Given the description of an element on the screen output the (x, y) to click on. 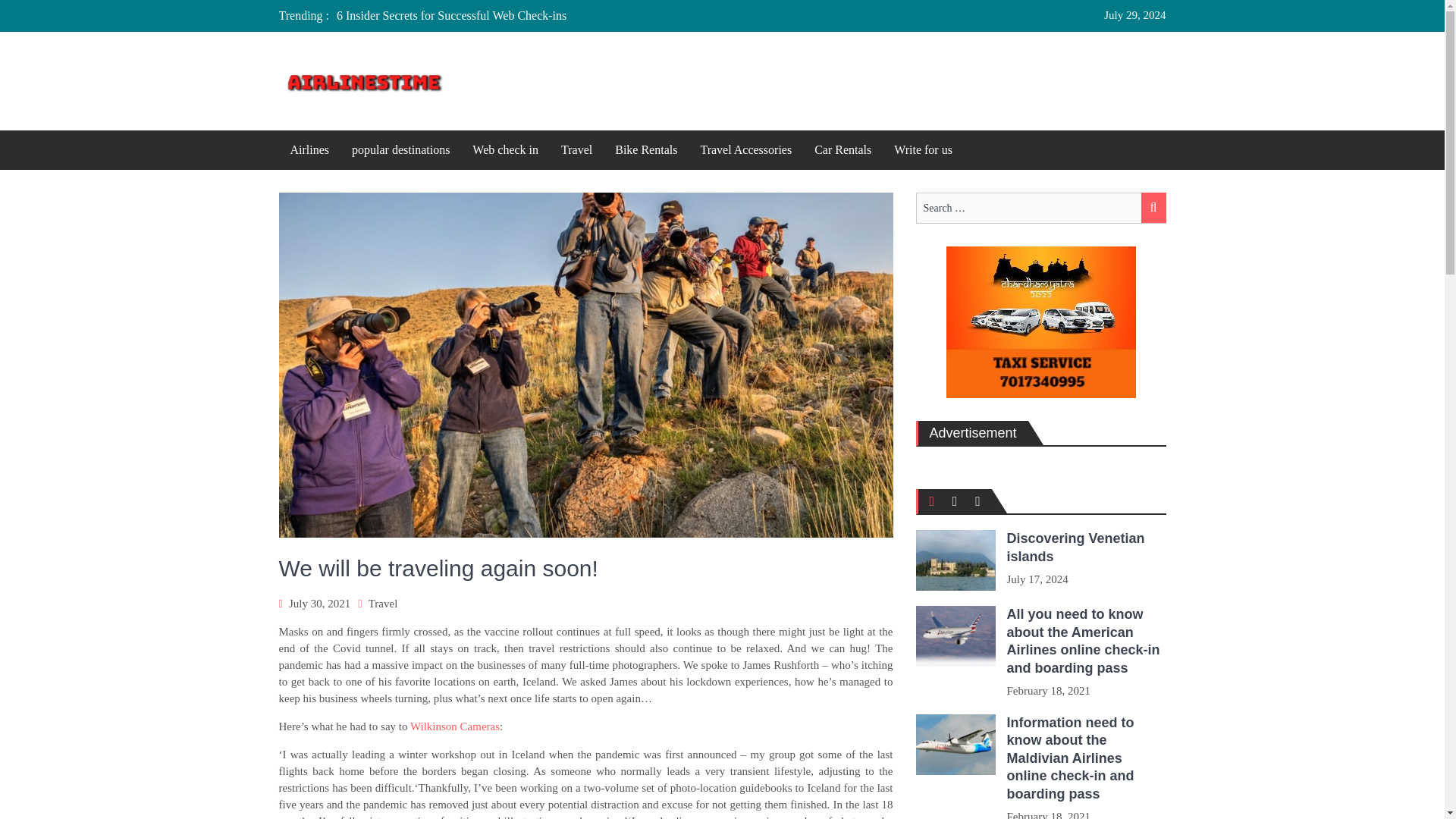
Write for us (922, 149)
Airlines (309, 149)
Wilkinson Cameras (454, 726)
Travel (382, 603)
6 Insider Secrets for Successful Web Check-ins (451, 15)
popular destinations (400, 149)
July 30, 2021 (319, 603)
Web check in (505, 149)
Car Rentals (842, 149)
Bike Rentals (646, 149)
Travel Accessories (745, 149)
Travel (577, 149)
